Given the description of an element on the screen output the (x, y) to click on. 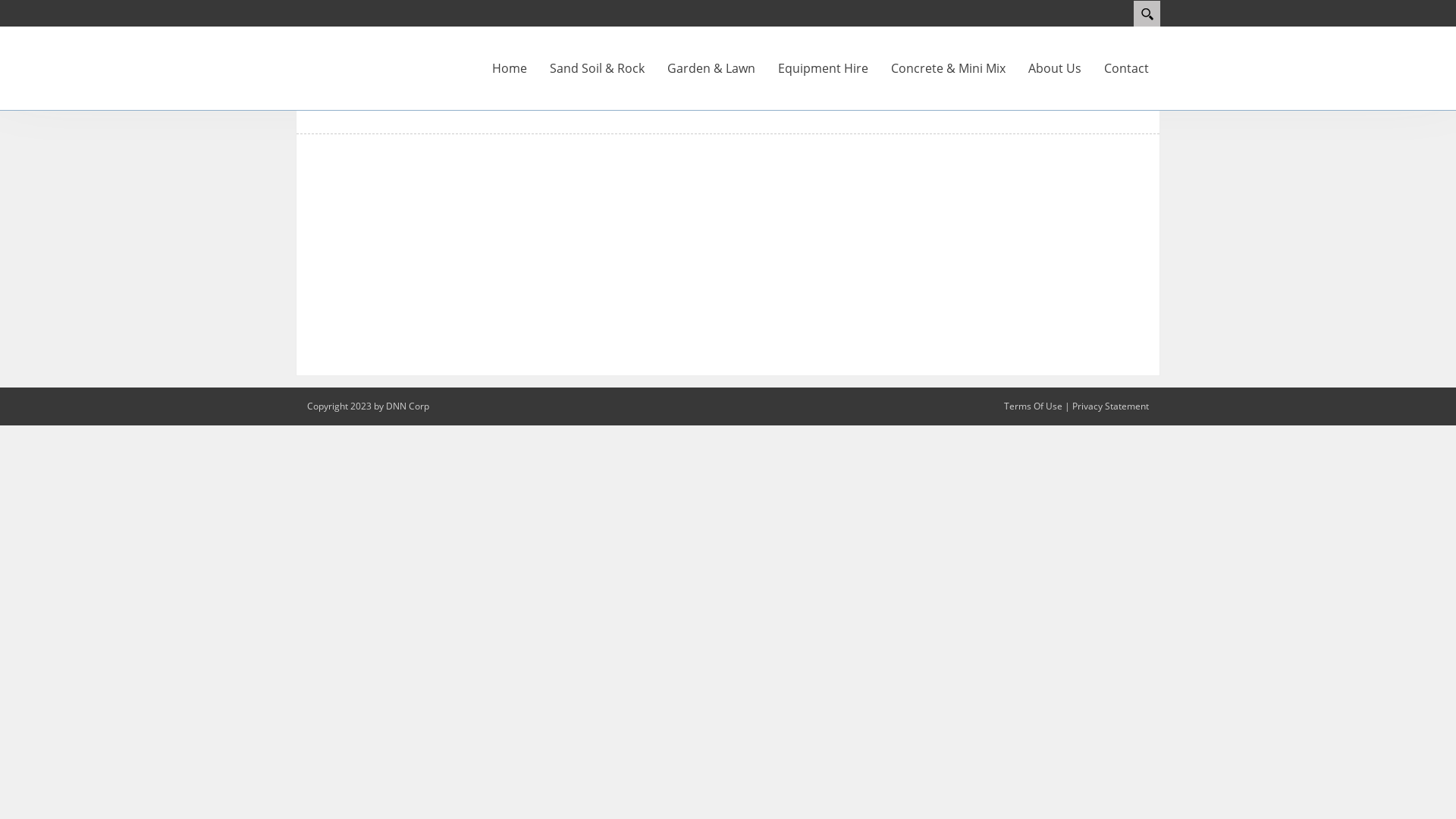
About Us Element type: text (1054, 68)
Concrete & Mini Mix Element type: text (947, 68)
Home Element type: text (509, 68)
Terms Of Use Element type: text (1033, 405)
Sand Soil & Rock Element type: text (596, 68)
Garden & Lawn Element type: text (710, 68)
Privacy Statement Element type: text (1110, 405)
Search Element type: text (1146, 13)
Equipment Hire Element type: text (822, 68)
Contact Element type: text (1126, 68)
